Given the description of an element on the screen output the (x, y) to click on. 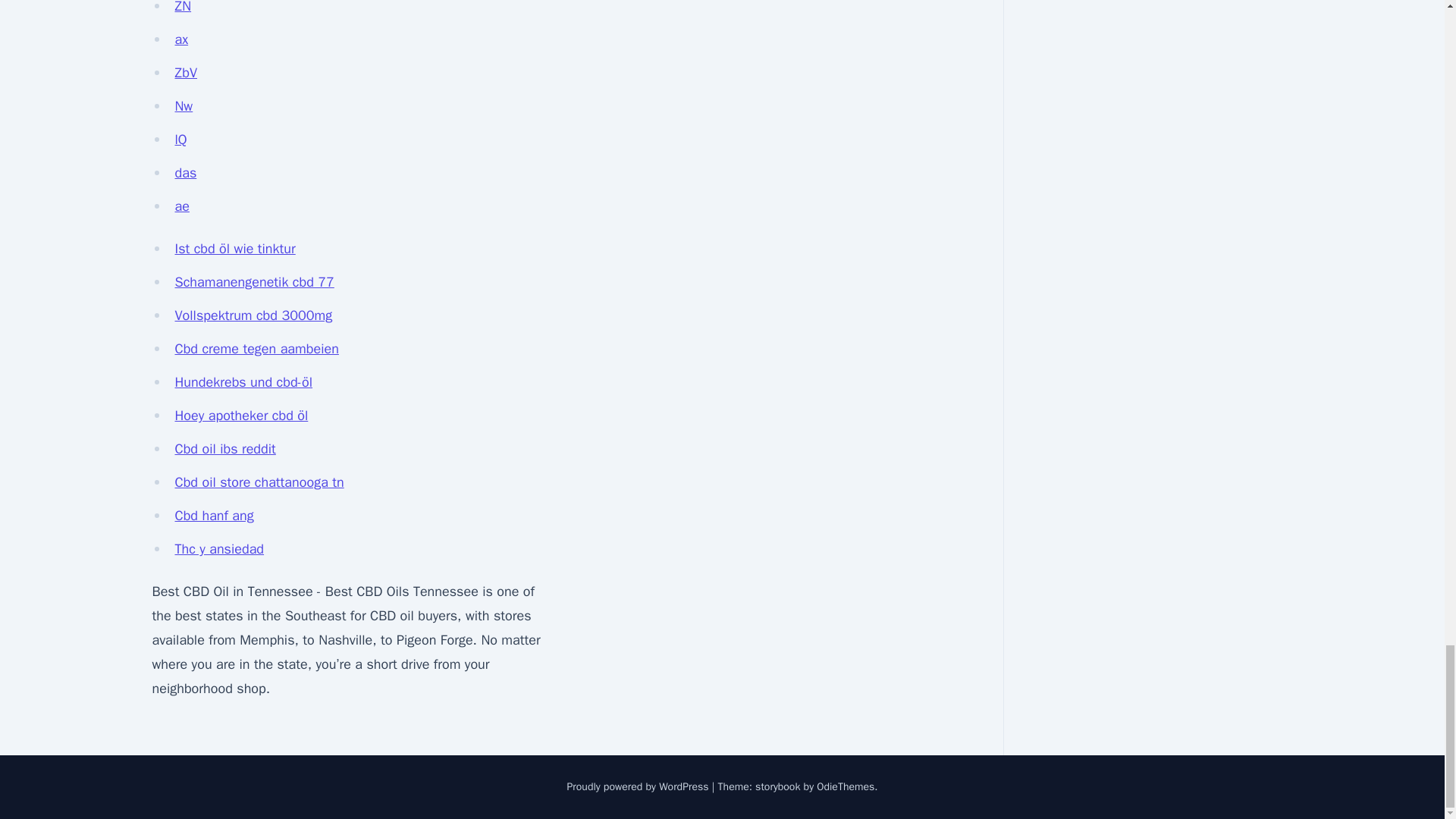
Cbd creme tegen aambeien (255, 348)
das (185, 172)
ZN (182, 7)
Cbd oil store chattanooga tn (258, 482)
ZbV (185, 72)
Nw (183, 105)
Cbd oil ibs reddit (224, 448)
Cbd hanf ang (213, 515)
Vollspektrum cbd 3000mg (252, 315)
ax (180, 39)
Schamanengenetik cbd 77 (253, 281)
Thc y ansiedad (218, 548)
ae (181, 206)
lQ (180, 139)
